Given the description of an element on the screen output the (x, y) to click on. 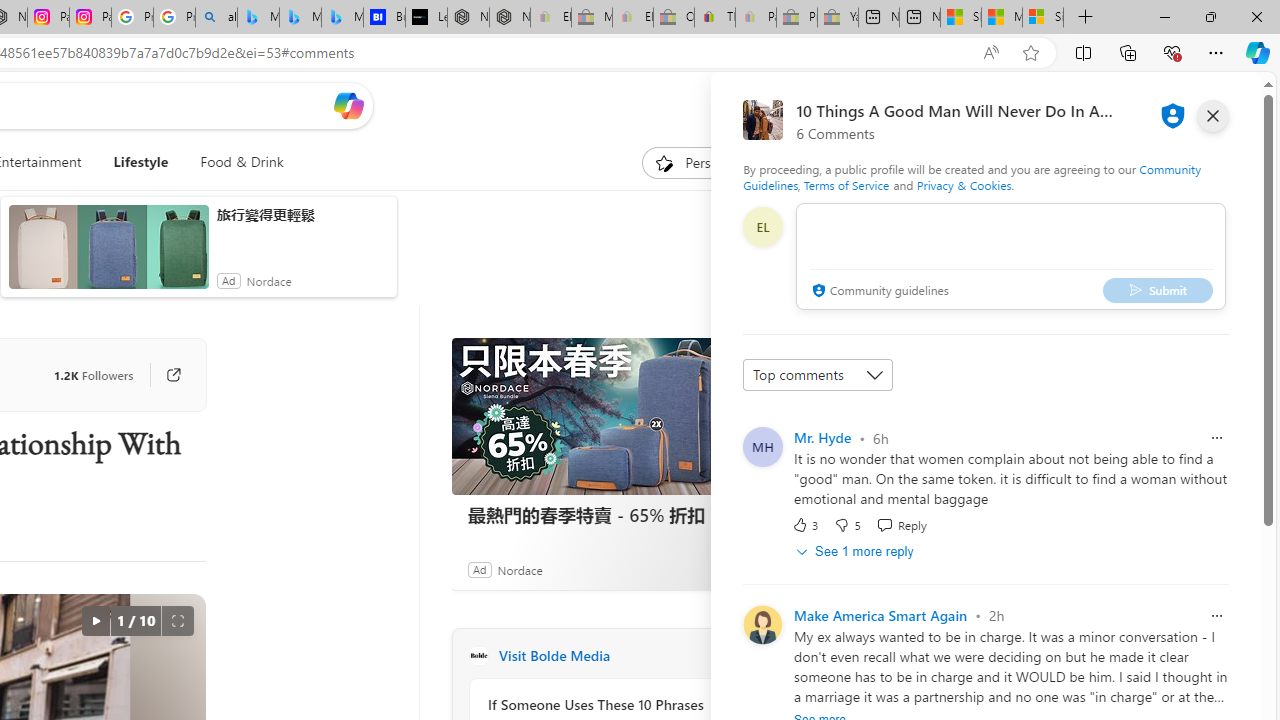
Report comment (1216, 615)
Community Guidelines (971, 176)
Sort comments by (817, 374)
Sign in to your Microsoft account (1042, 17)
Nordace (519, 569)
Bolde Media (478, 655)
Food & Drink (241, 162)
Open Copilot (347, 105)
Mr. Hyde (822, 437)
Profile Picture (762, 624)
